Given the description of an element on the screen output the (x, y) to click on. 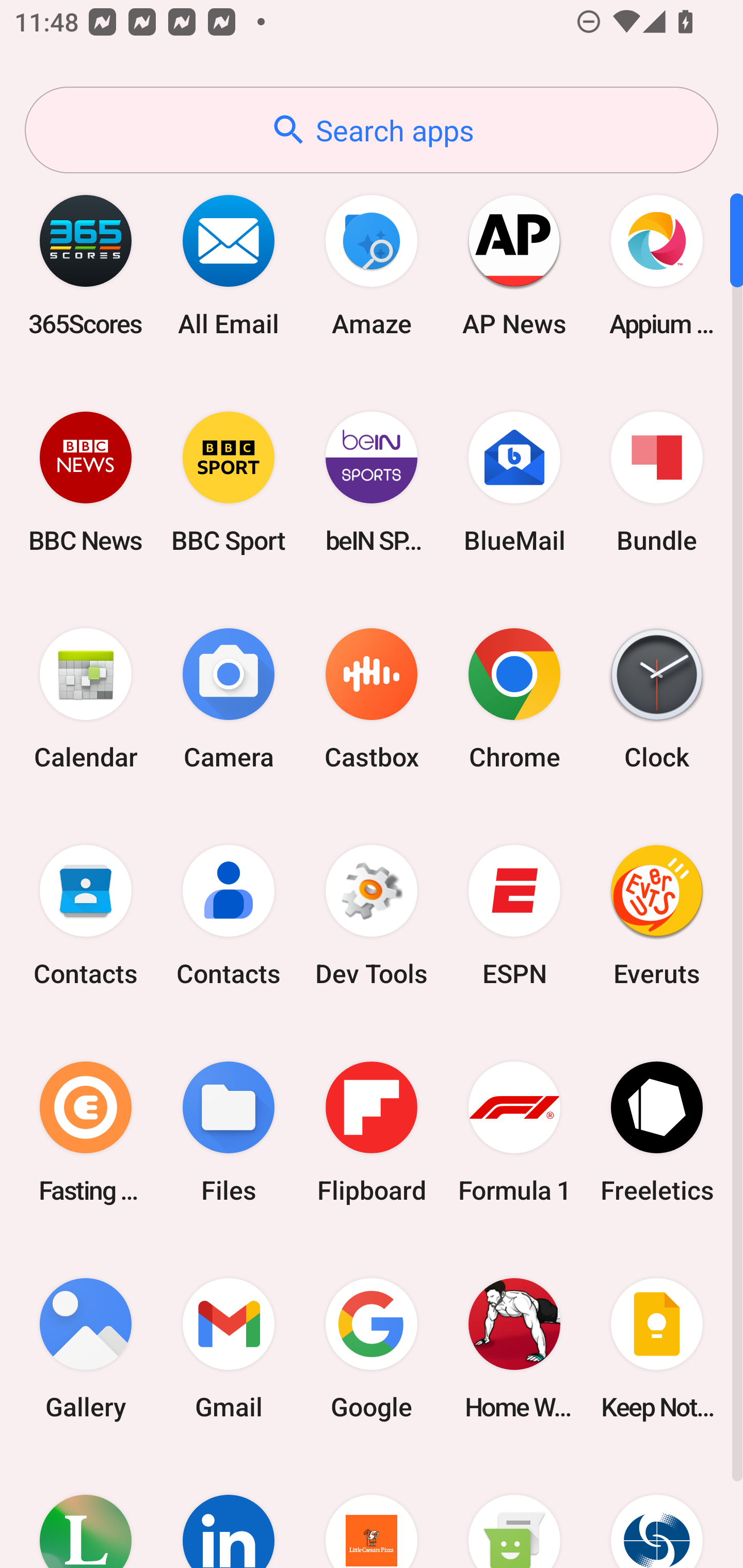
  Search apps (371, 130)
365Scores (85, 264)
All Email (228, 264)
Amaze (371, 264)
AP News (514, 264)
Appium Settings (656, 264)
BBC News (85, 482)
BBC Sport (228, 482)
beIN SPORTS (371, 482)
BlueMail (514, 482)
Bundle (656, 482)
Calendar (85, 699)
Camera (228, 699)
Castbox (371, 699)
Chrome (514, 699)
Clock (656, 699)
Contacts (85, 915)
Contacts (228, 915)
Dev Tools (371, 915)
ESPN (514, 915)
Everuts (656, 915)
Fasting Coach (85, 1131)
Files (228, 1131)
Flipboard (371, 1131)
Formula 1 (514, 1131)
Freeletics (656, 1131)
Gallery (85, 1348)
Gmail (228, 1348)
Google (371, 1348)
Home Workout (514, 1348)
Keep Notes (656, 1348)
